Given the description of an element on the screen output the (x, y) to click on. 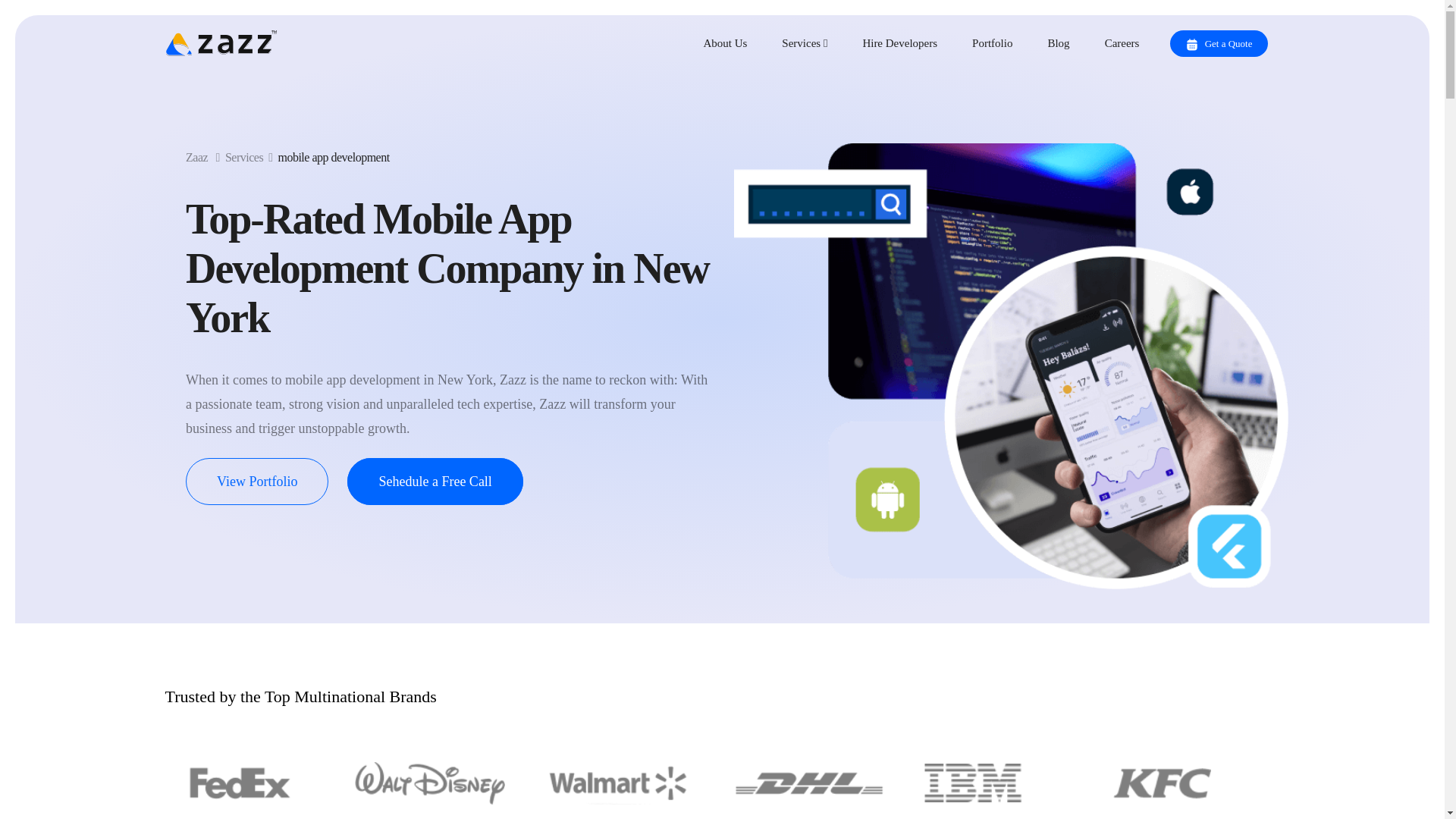
Learn more about. (1243, 73)
About Us (729, 42)
Web Development (722, 82)
Services (808, 42)
iOS App Development (281, 82)
